Given the description of an element on the screen output the (x, y) to click on. 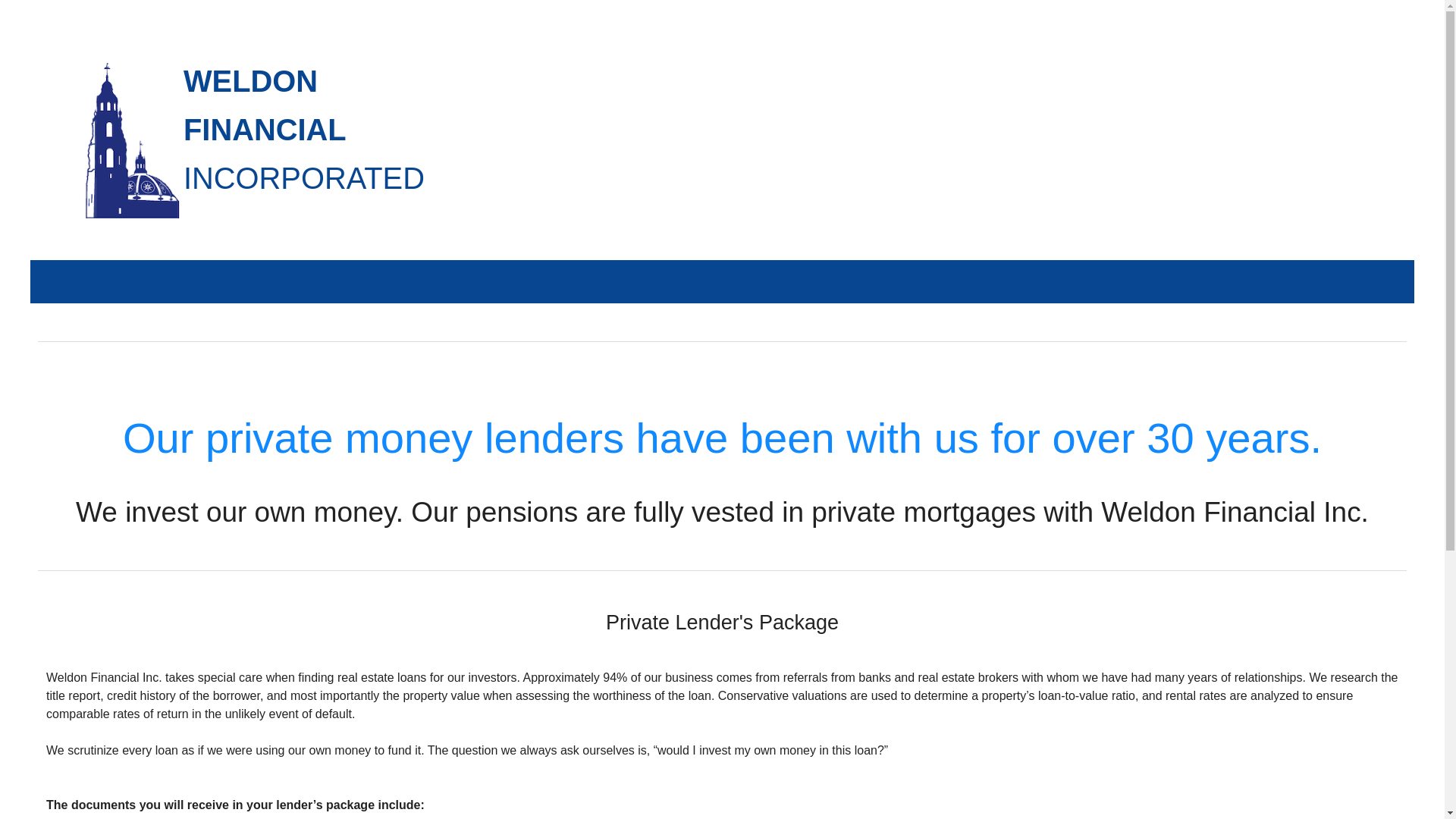
Borrowers (721, 324)
Contact Us (721, 454)
Loan Application (721, 497)
Home (721, 281)
About Hard Money Loans (721, 411)
Lenders (721, 367)
